Given the description of an element on the screen output the (x, y) to click on. 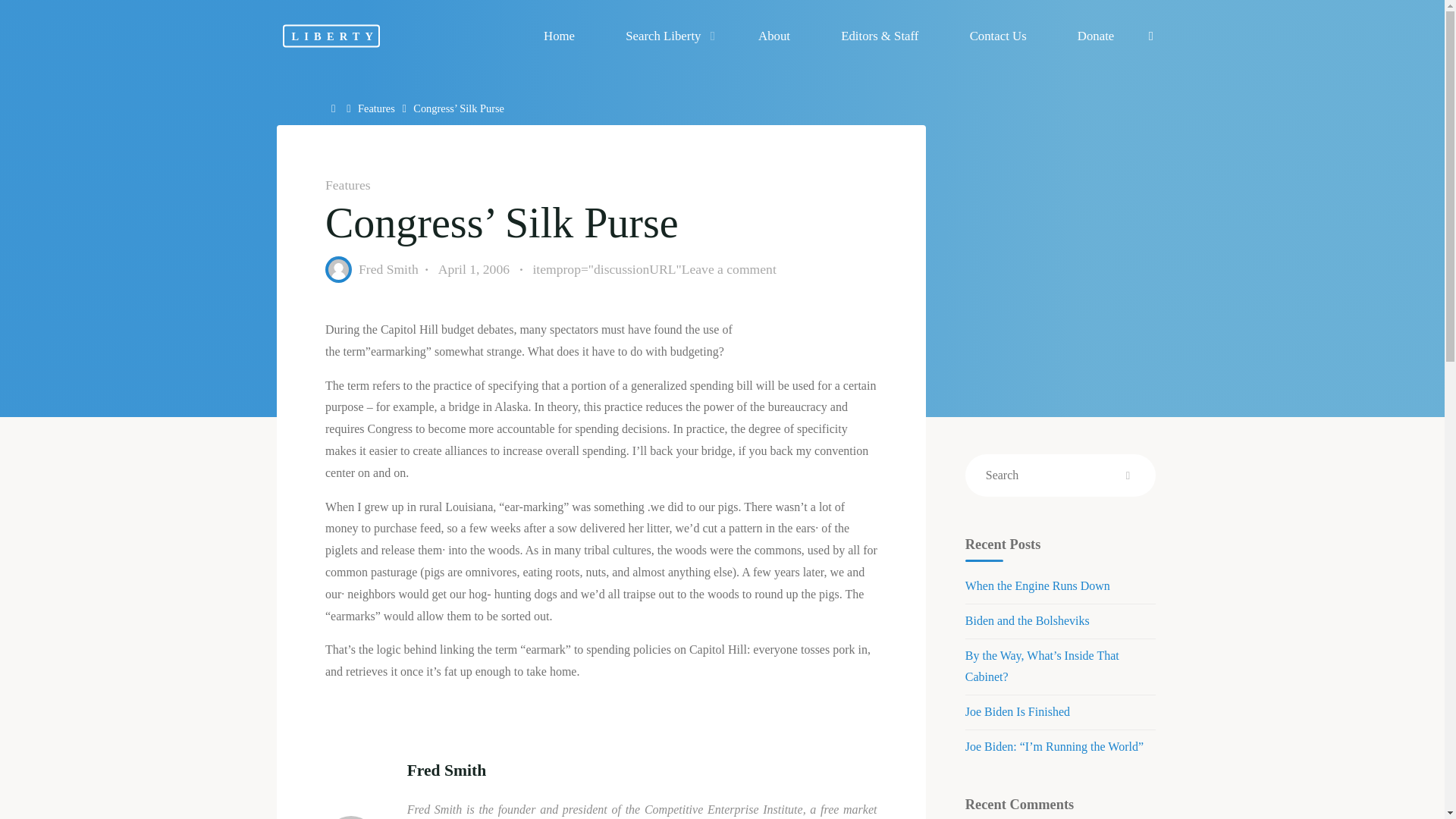
Page 10 (600, 589)
Home (558, 35)
Home (334, 108)
Features (376, 108)
Fred Smith (387, 268)
Donate (1095, 35)
Jump to comments (654, 269)
Home (334, 108)
Contact Us (997, 35)
About (773, 35)
